Given the description of an element on the screen output the (x, y) to click on. 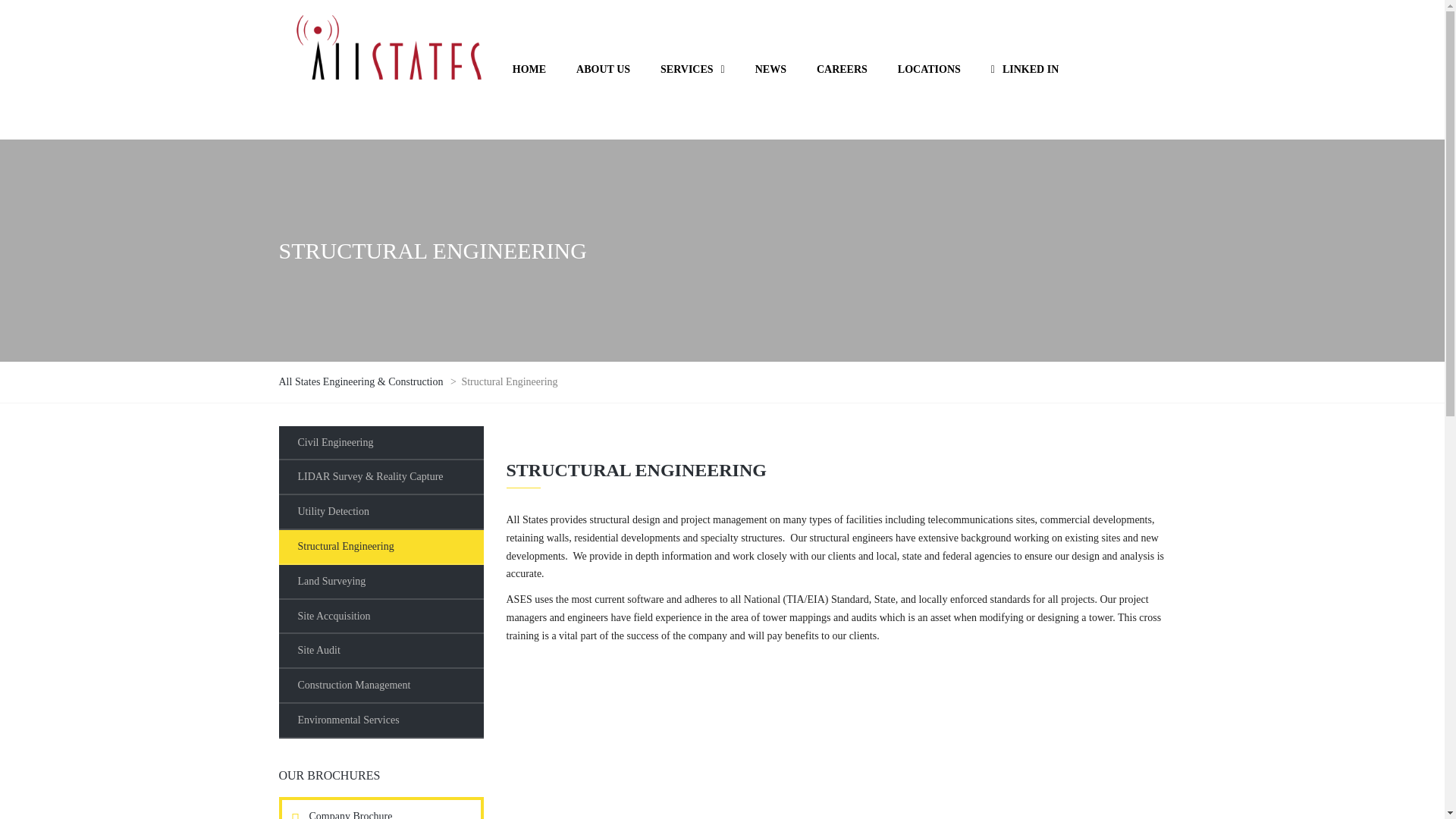
Utility Detection (381, 512)
Environmental Services (381, 720)
Civil Engineering (381, 443)
ABOUT US (602, 69)
Land Surveying (381, 582)
Construction Management (381, 686)
CAREERS (842, 69)
Site Audit (381, 651)
NEWS (770, 69)
Structural Engineering (381, 547)
